Given the description of an element on the screen output the (x, y) to click on. 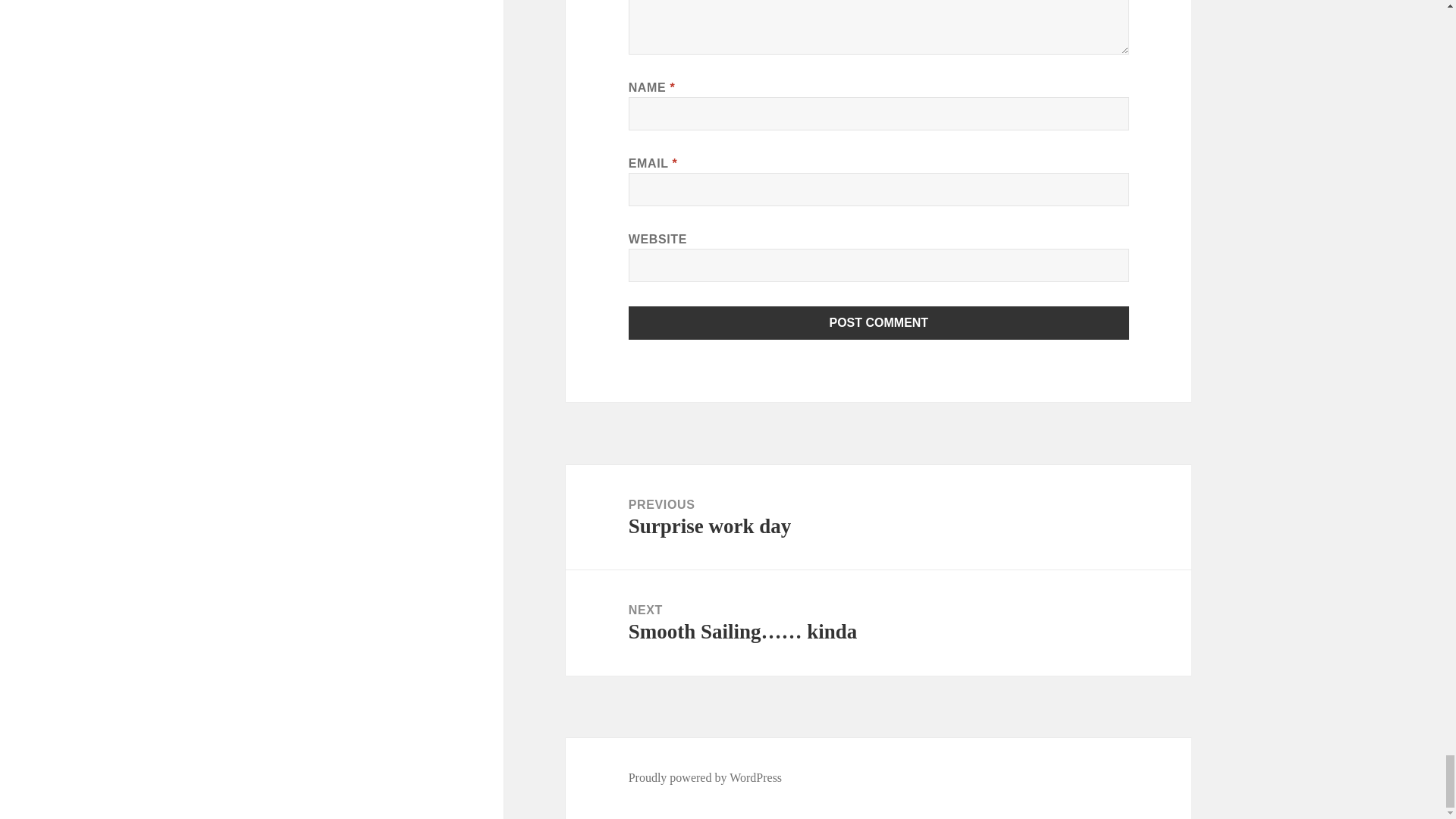
Post Comment (878, 322)
Proudly powered by WordPress (878, 517)
Post Comment (704, 777)
